Given the description of an element on the screen output the (x, y) to click on. 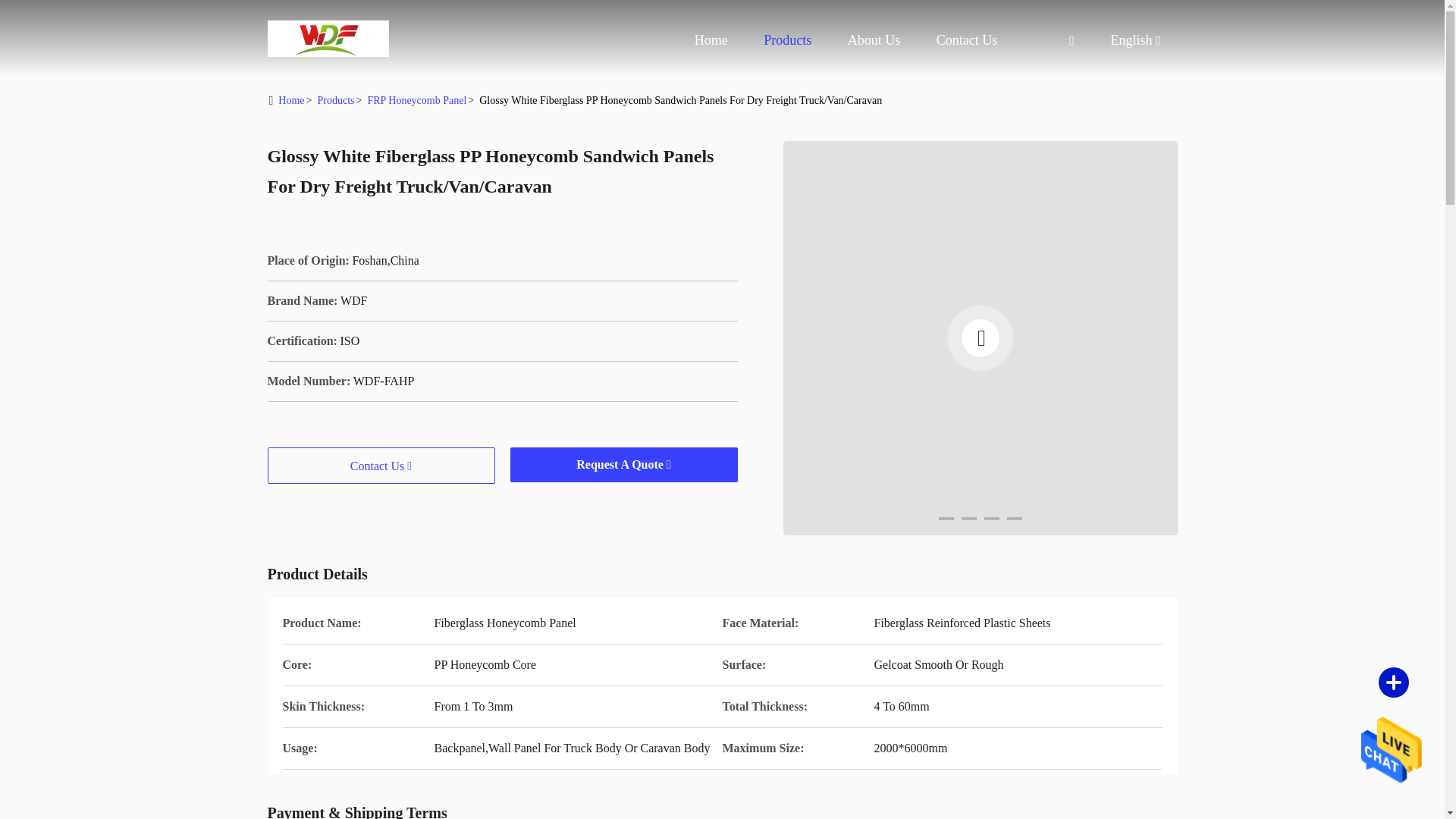
Contact Us (966, 40)
Products (786, 40)
Products (786, 40)
Home (327, 37)
About Us (874, 40)
About Us (874, 40)
Contact Us (966, 40)
